Given the description of an element on the screen output the (x, y) to click on. 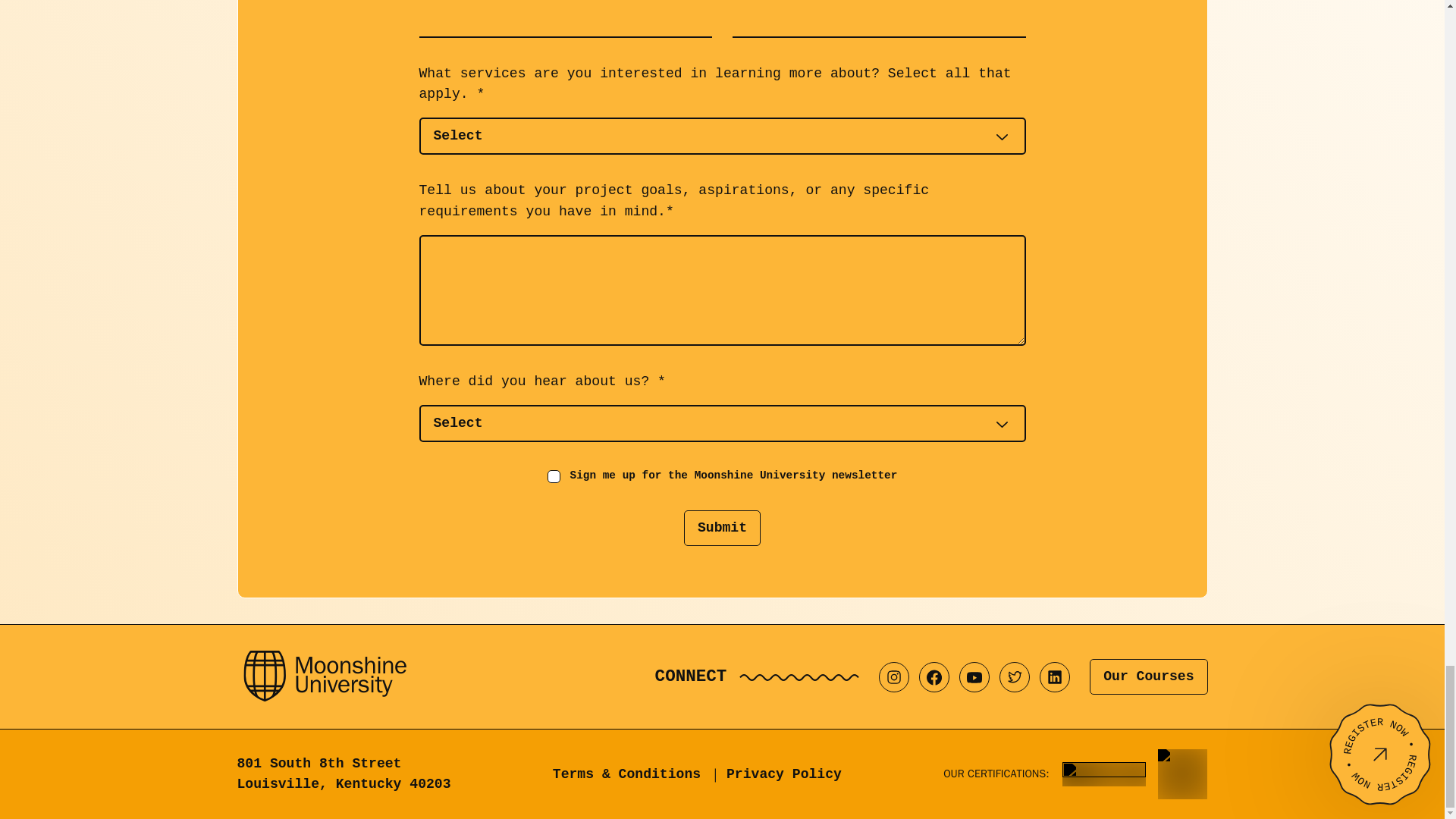
Select (722, 423)
on (553, 476)
Submit (722, 528)
